Given the description of an element on the screen output the (x, y) to click on. 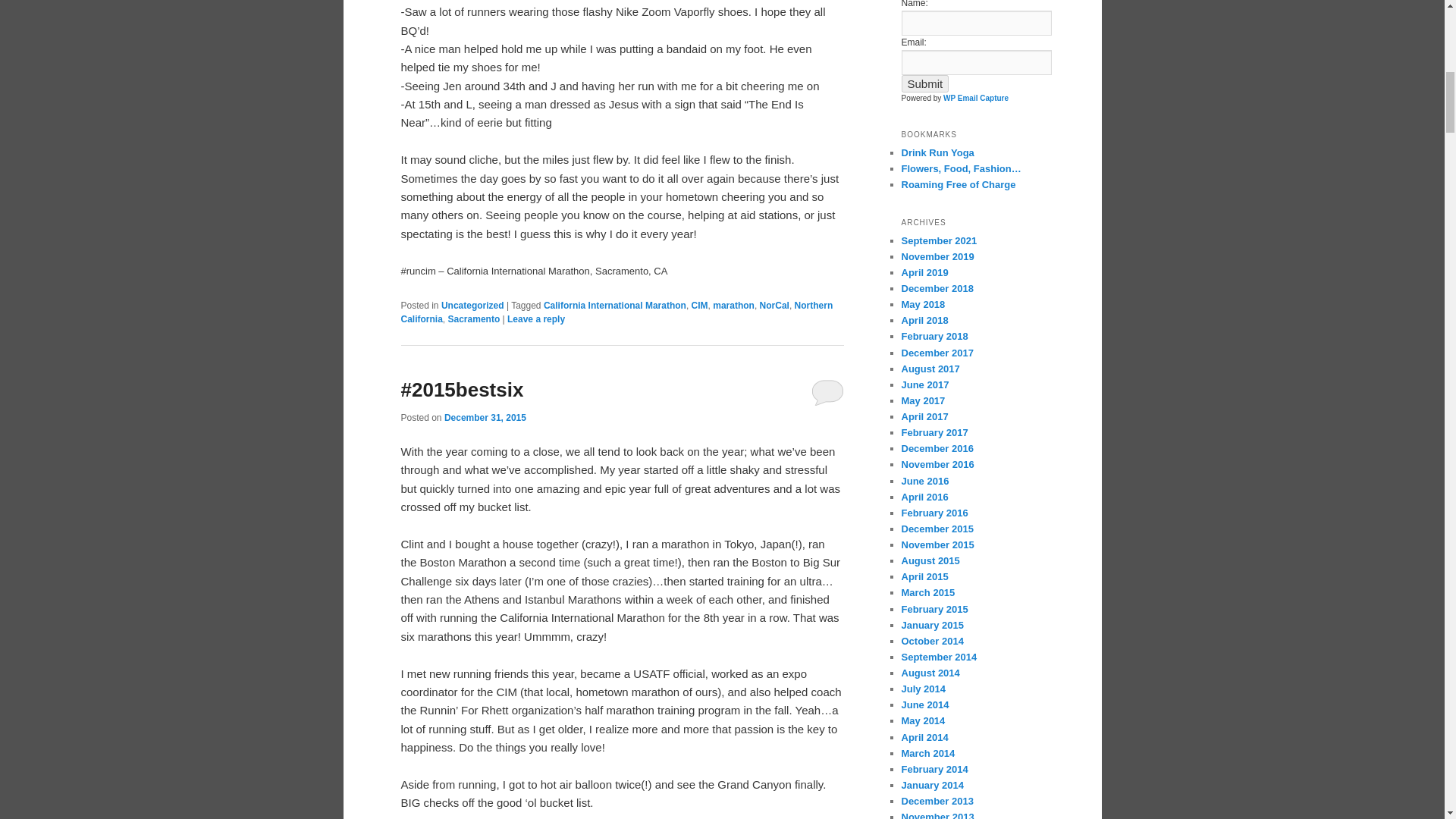
Submit (925, 83)
NorCal (774, 305)
December 31, 2015 (484, 417)
Northern California (616, 312)
Uncategorized (472, 305)
5:47 pm (484, 417)
CIM (699, 305)
Sacramento (474, 318)
California International Marathon (614, 305)
Leave a reply (535, 318)
View all posts in Uncategorized (472, 305)
marathon (733, 305)
